Given the description of an element on the screen output the (x, y) to click on. 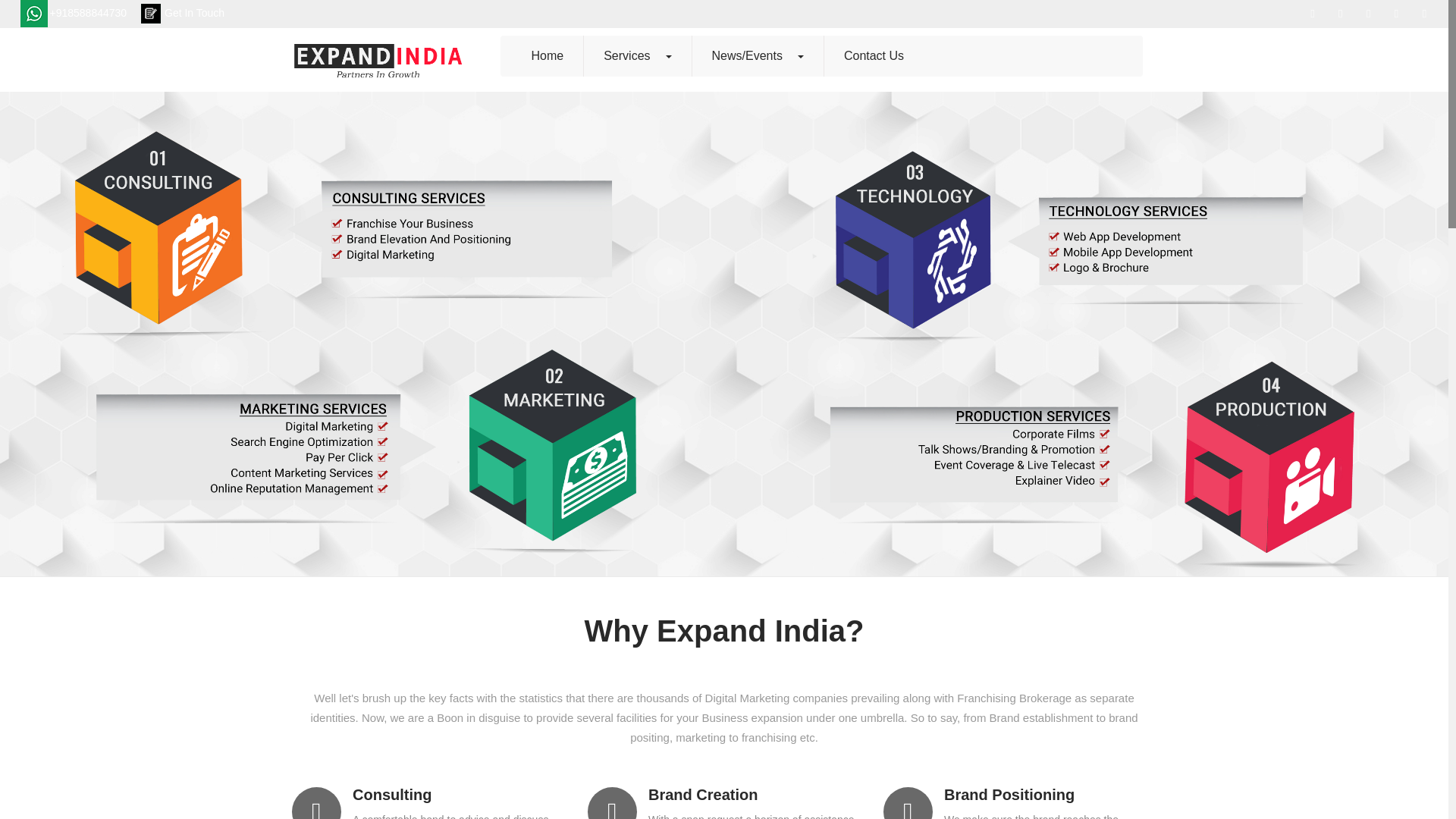
Services (636, 56)
Home (547, 56)
Contact Us (873, 56)
